Given the description of an element on the screen output the (x, y) to click on. 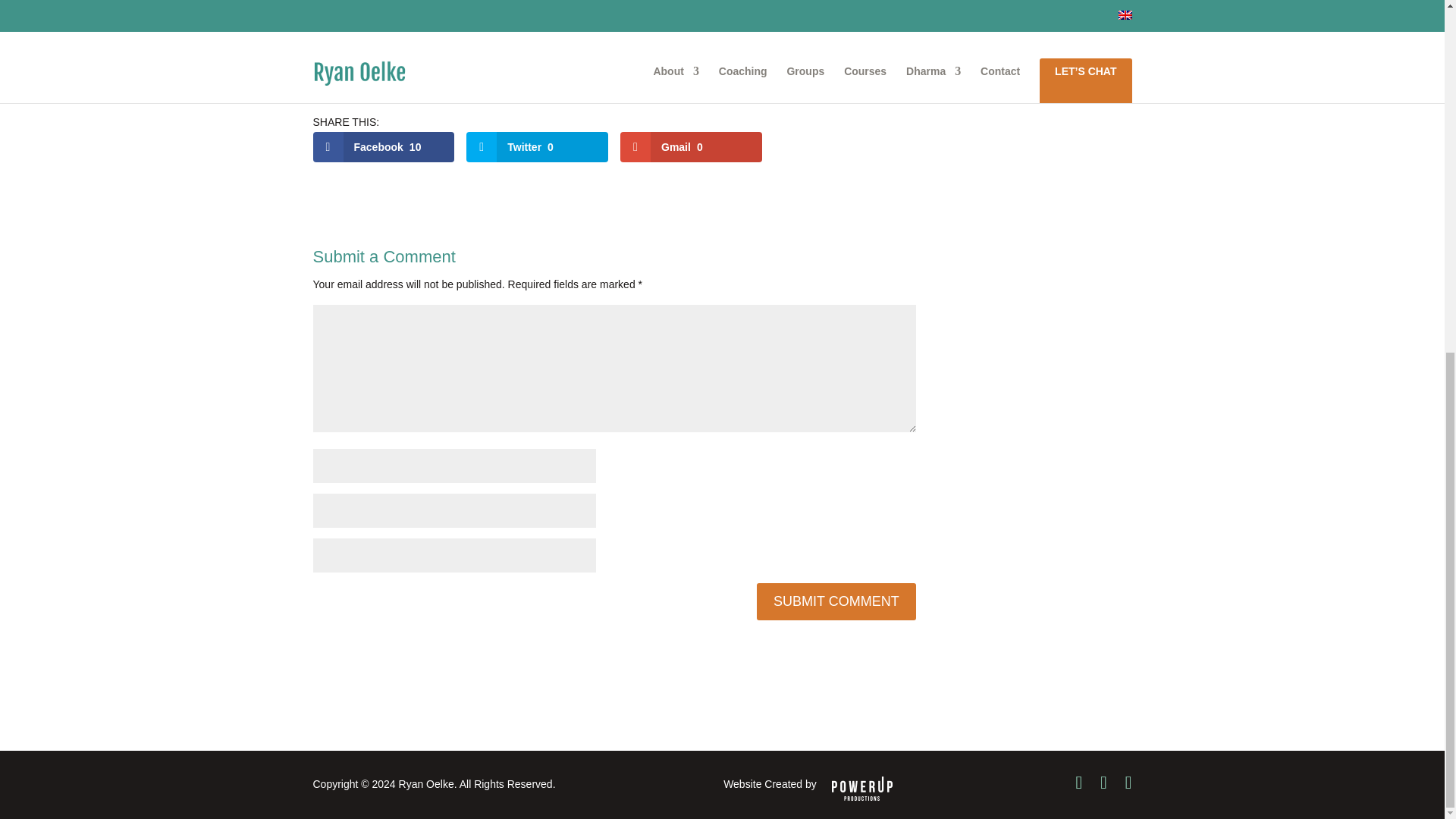
Facebook 10 (383, 146)
Gmail 0 (690, 146)
Submit Comment (836, 601)
Submit Comment (836, 601)
Twitter 0 (536, 146)
